Given the description of an element on the screen output the (x, y) to click on. 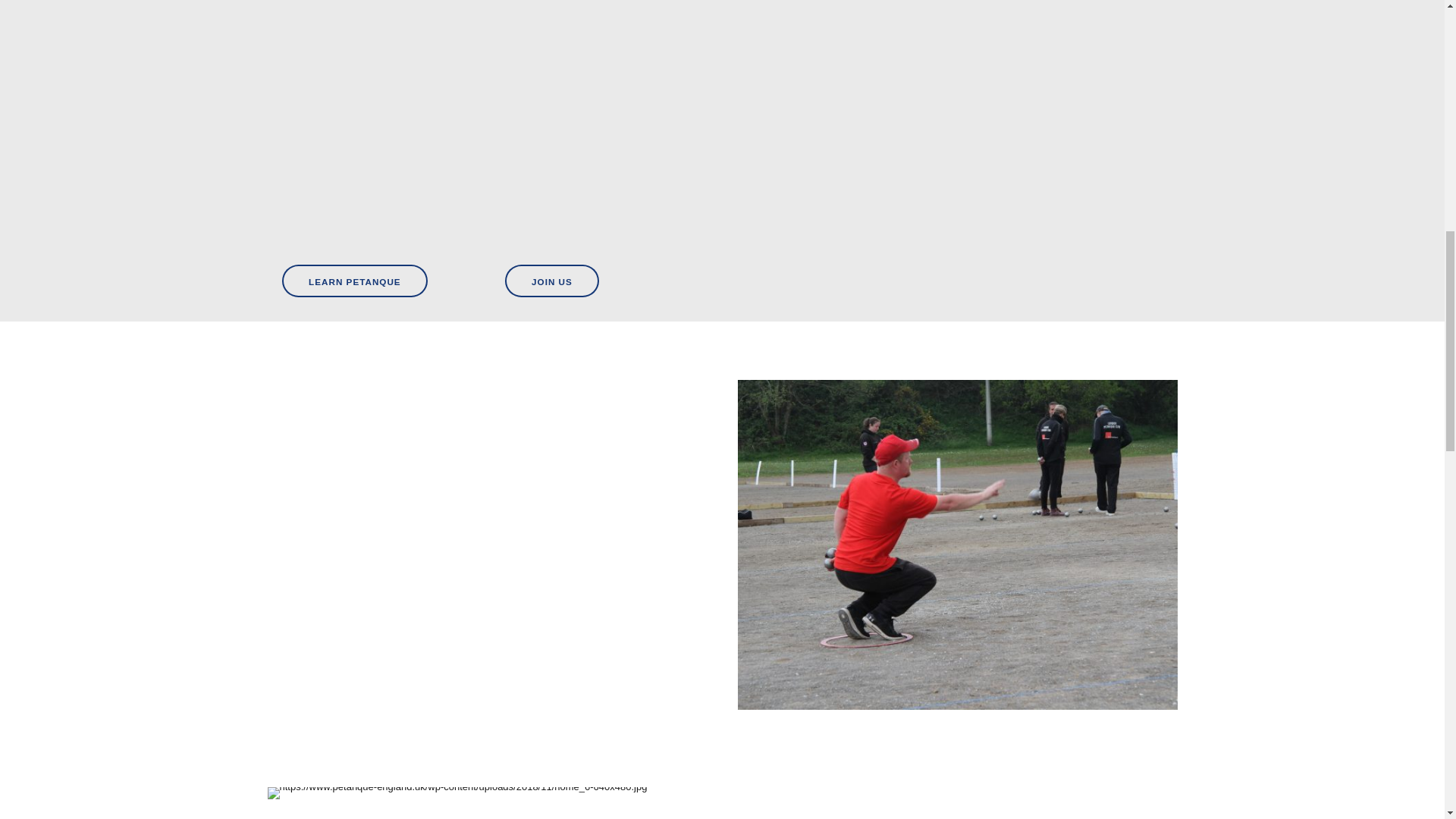
LEARN PETANQUE (355, 280)
JOIN US (551, 280)
